Given the description of an element on the screen output the (x, y) to click on. 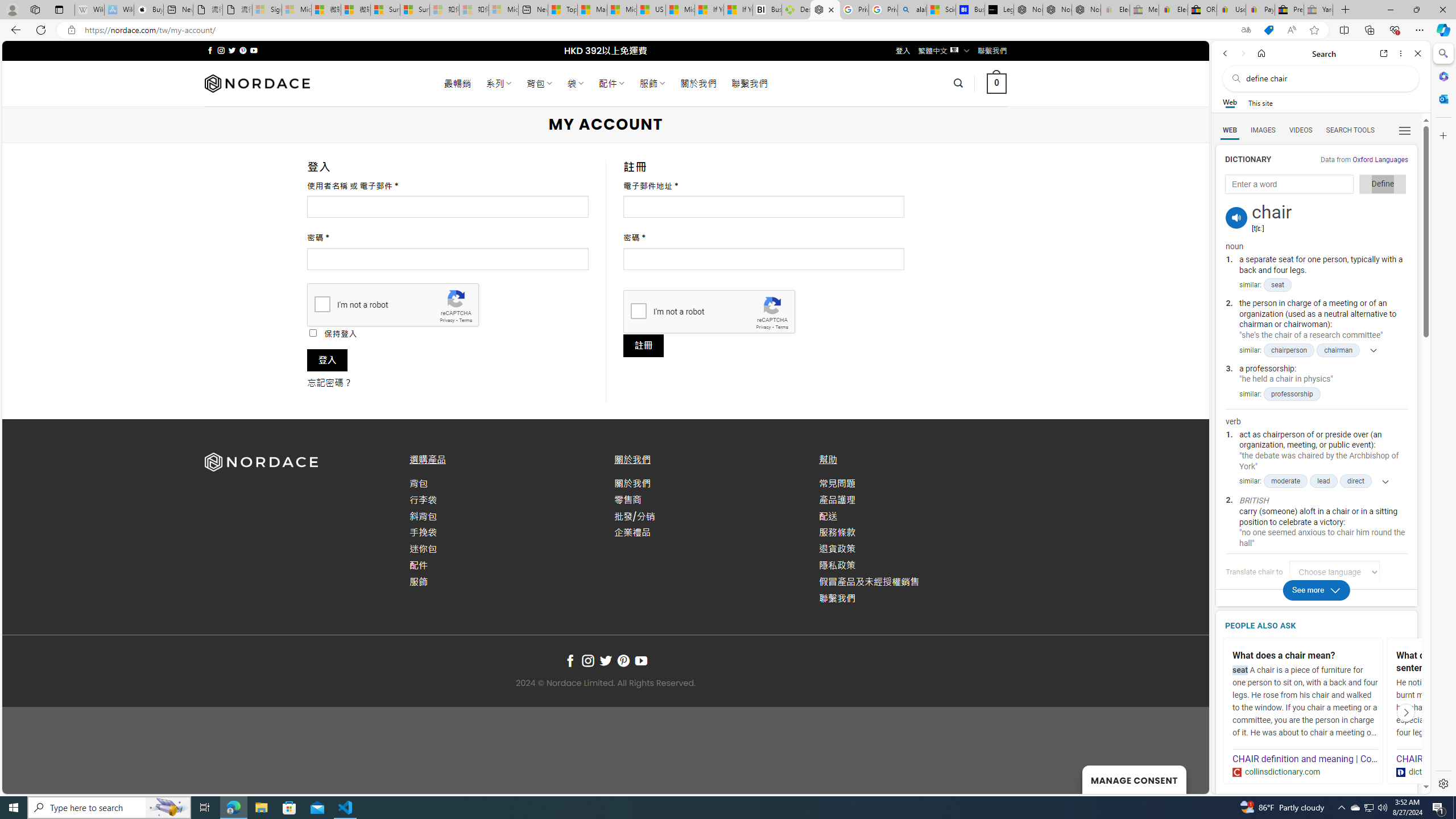
Top Stories - MSN (562, 9)
What does a chair mean? (1304, 656)
Sign in to your Microsoft account - Sleeping (266, 9)
Follow on Twitter (605, 660)
